Given the description of an element on the screen output the (x, y) to click on. 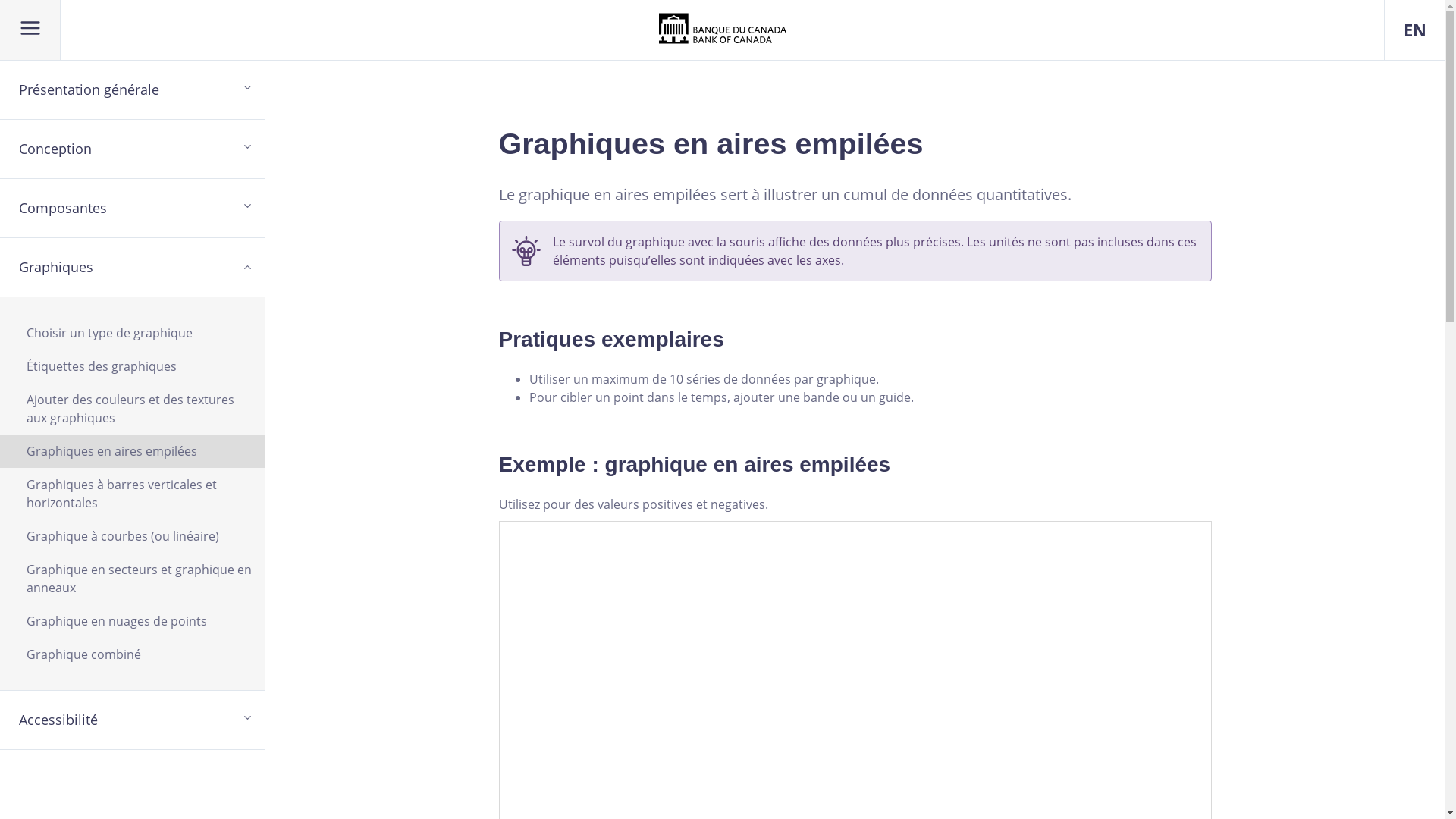
Graphique en secteurs et graphique en anneaux Element type: text (132, 578)
EN Element type: text (1414, 29)
Graphiques Element type: text (132, 267)
Accueil Element type: text (721, 26)
Conception Element type: text (132, 148)
Ajouter des couleurs et des textures aux graphiques Element type: text (132, 408)
Choisir un type de graphique Element type: text (132, 332)
Graphique en nuages de points Element type: text (132, 620)
Composantes Element type: text (132, 208)
